Given the description of an element on the screen output the (x, y) to click on. 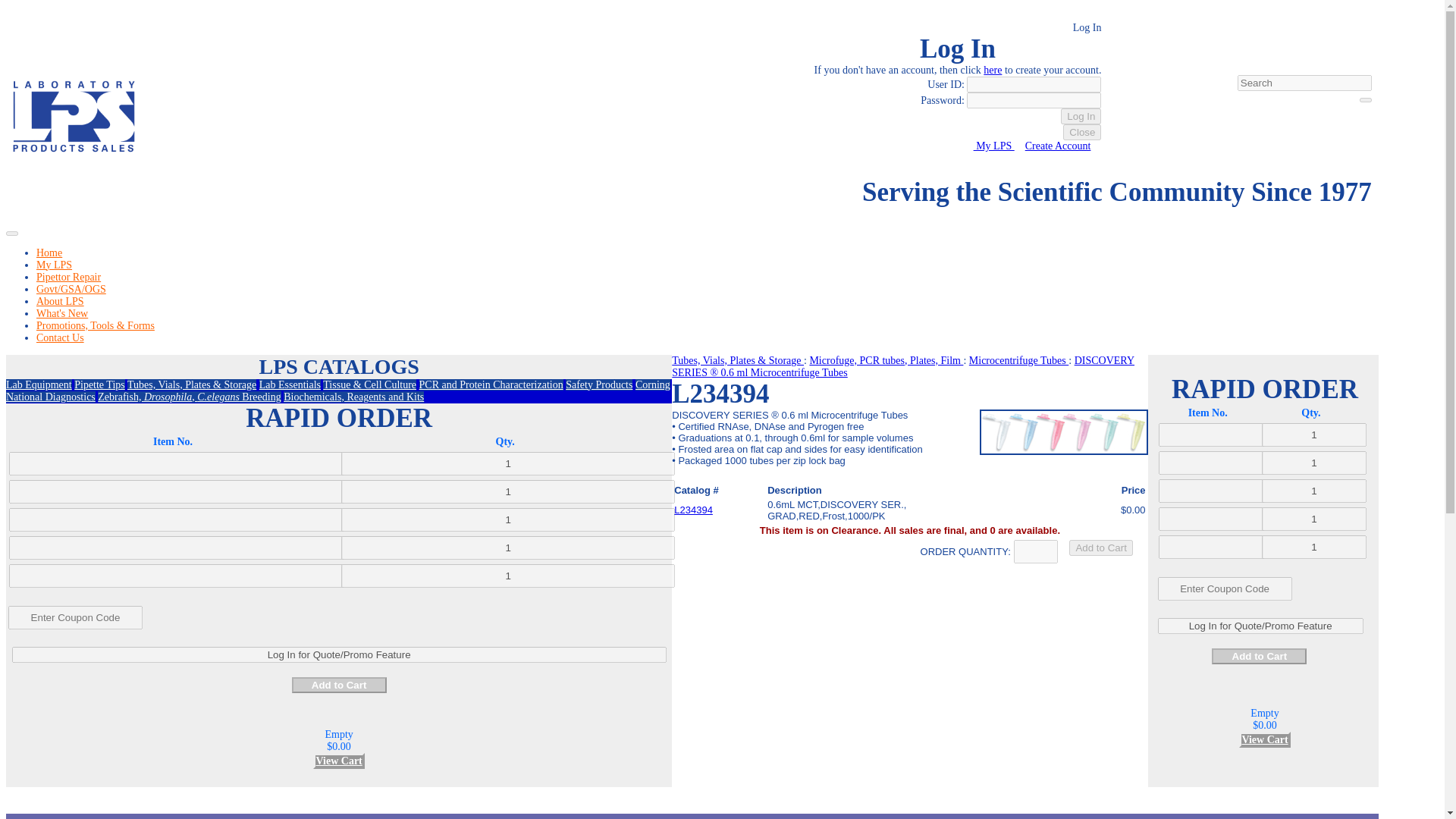
National Diagnostics (50, 396)
Log In (1080, 116)
Add to Cart (1258, 656)
1 (507, 491)
About LPS (60, 301)
Contact Us (60, 337)
1 (507, 519)
Close (1081, 132)
Add to Cart (339, 684)
My LPS (53, 265)
Lab Essentials (289, 384)
here (992, 70)
Zebrafish, Drosophila, C.elegans Breeding (189, 396)
Safety Products (598, 384)
PCR and Protein Characterization (491, 384)
